Given the description of an element on the screen output the (x, y) to click on. 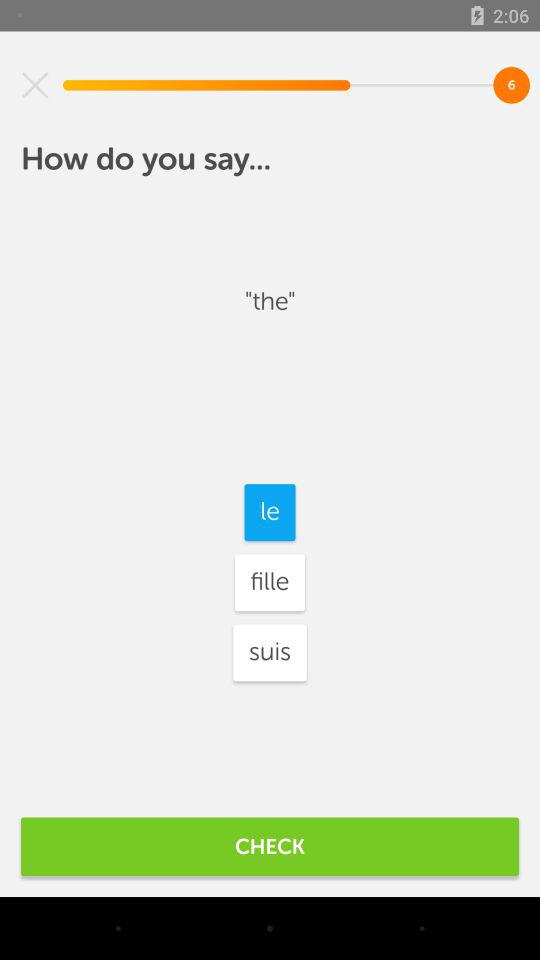
choose icon above suis (269, 582)
